Given the description of an element on the screen output the (x, y) to click on. 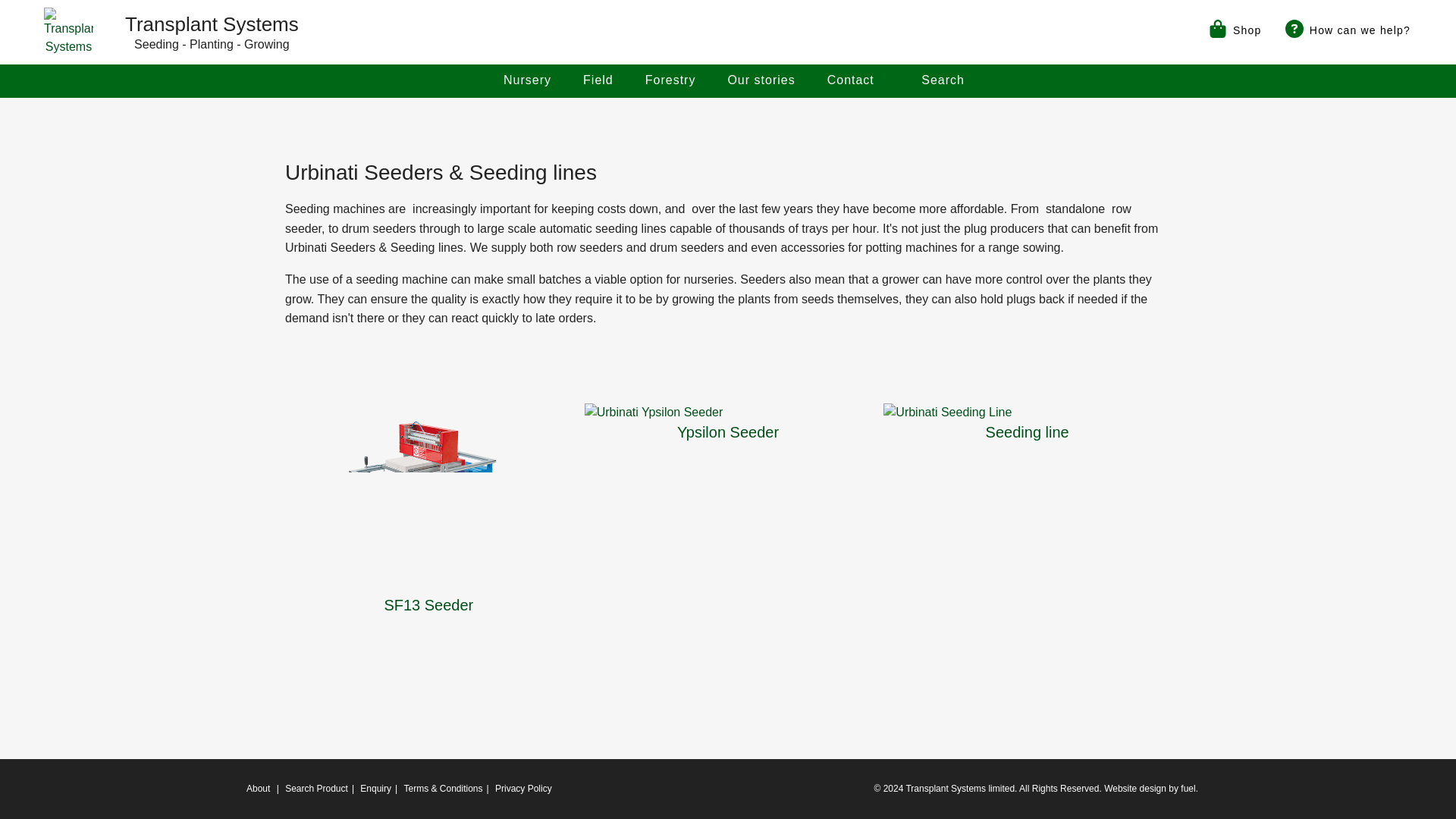
Forestry (670, 80)
How can we help? (1346, 29)
Nursery (526, 80)
Urbinati Ypsilon Seeder (728, 412)
Field (598, 80)
Shop (1232, 29)
Urbinati SF13 Seeder (428, 498)
Urbinati Seeding Line (1026, 412)
Transplant Systems (68, 32)
